Given the description of an element on the screen output the (x, y) to click on. 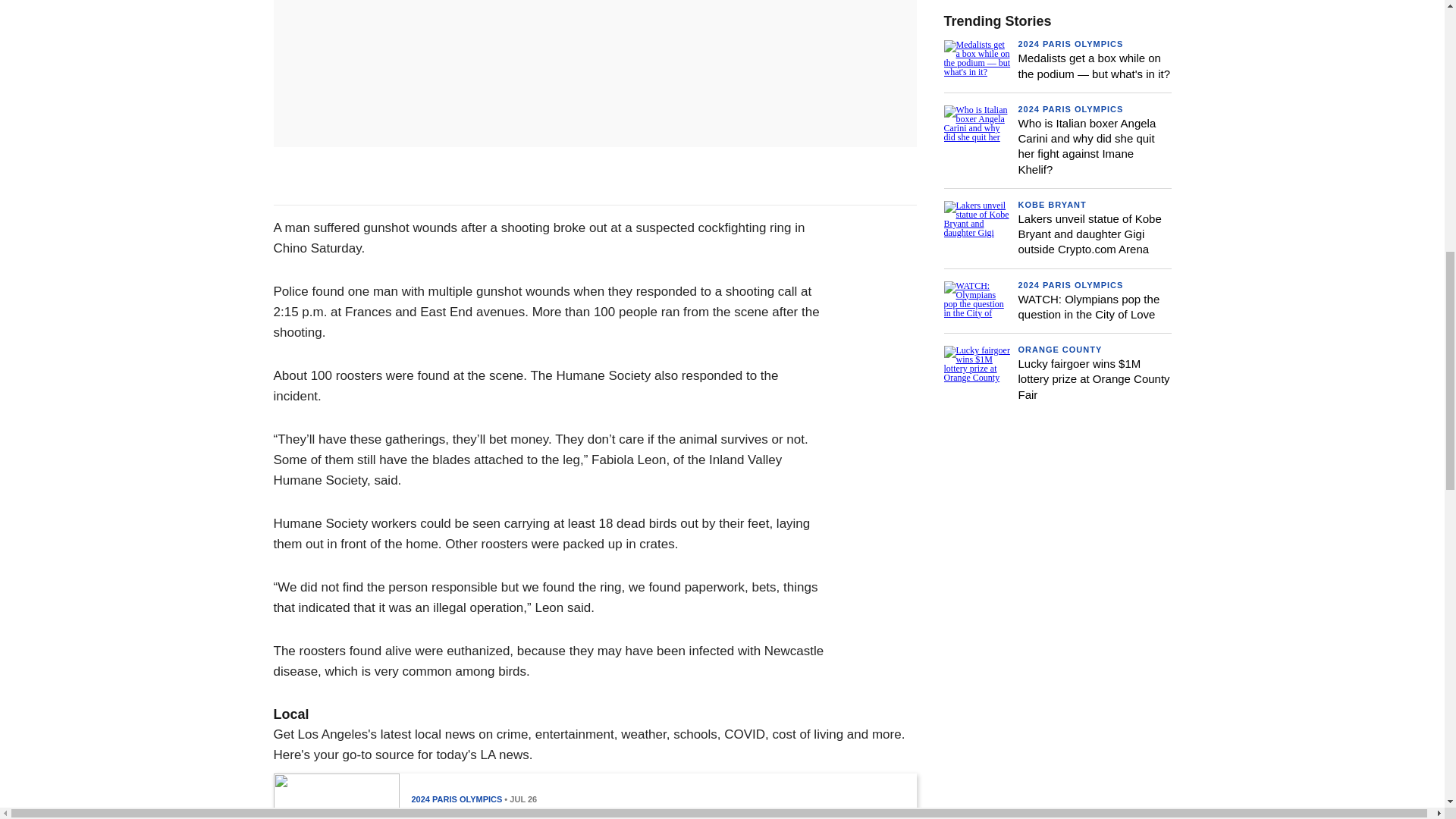
2024 PARIS OLYMPICS (1069, 43)
2024 PARIS OLYMPICS (1069, 108)
How to watch the NBC4 News during the Paris Olympics (582, 813)
2024 PARIS OLYMPICS (456, 798)
